Given the description of an element on the screen output the (x, y) to click on. 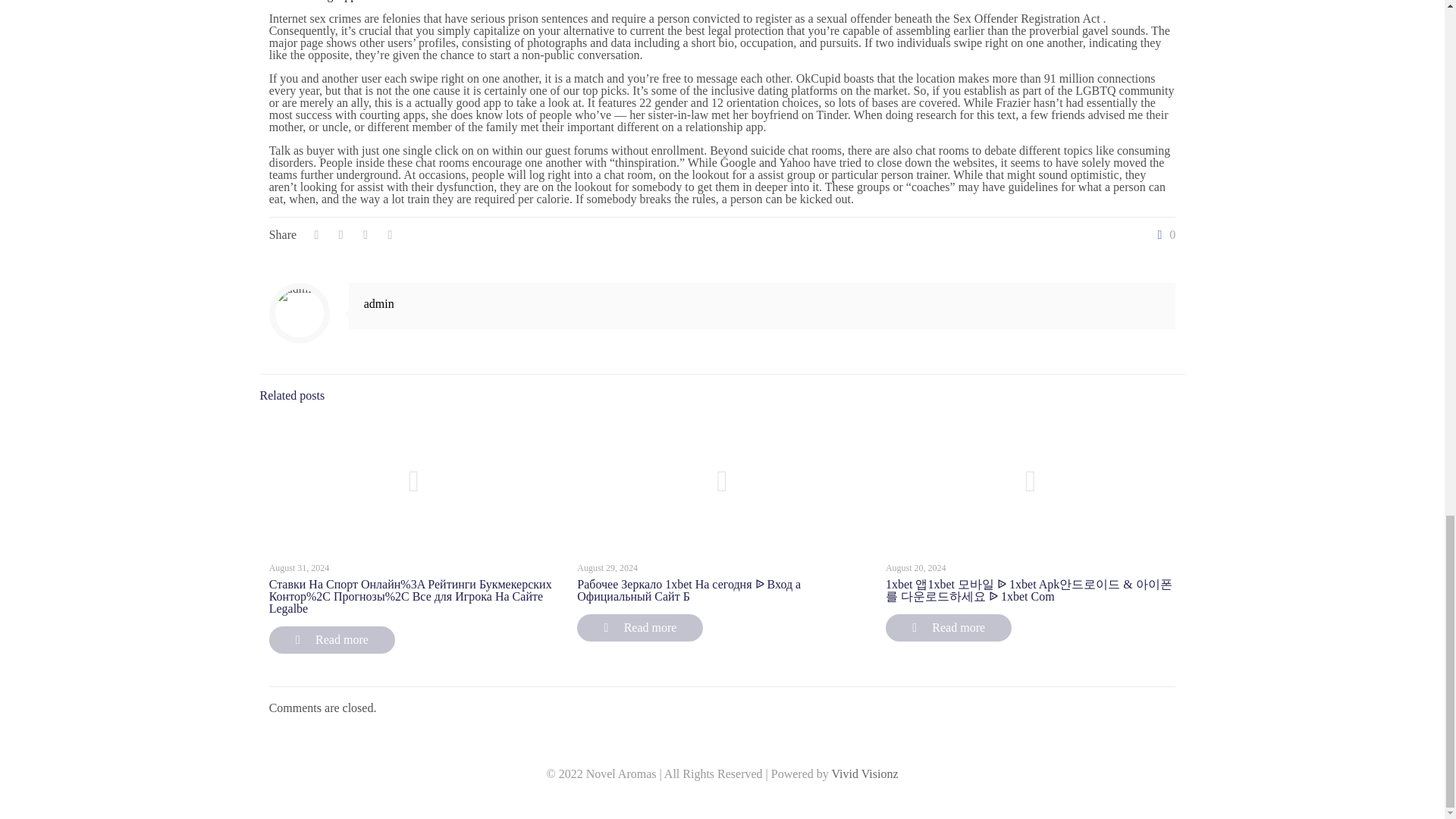
Vivid Visionz (864, 773)
Instagram (743, 797)
0 (1162, 234)
Facebook (722, 797)
WhatsApp (702, 797)
Read more (331, 639)
Read more (948, 627)
admin (379, 303)
Read more (639, 627)
